Given the description of an element on the screen output the (x, y) to click on. 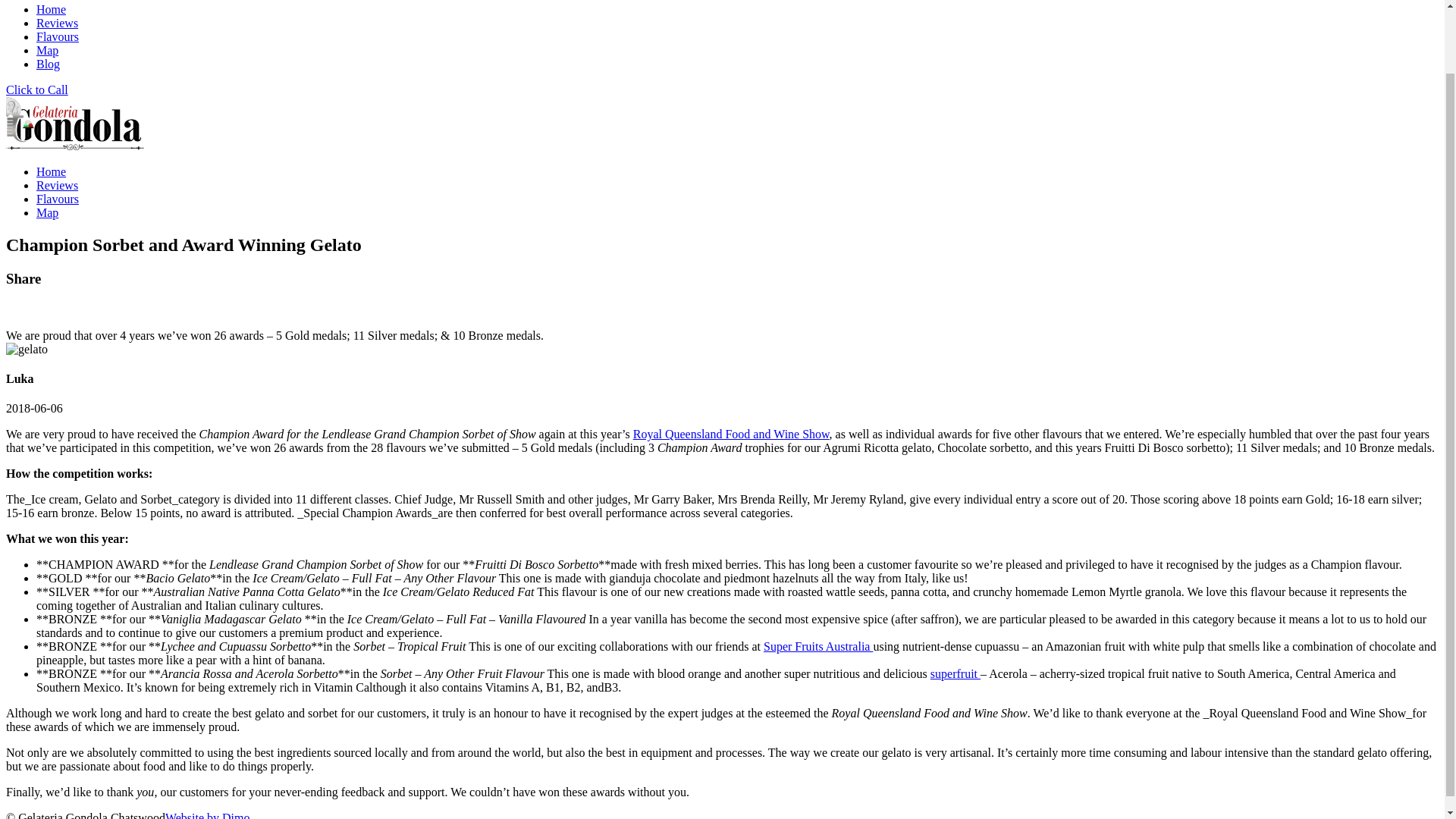
Super Fruits Australia  (817, 645)
Flavours (57, 36)
Home (50, 9)
Reviews (57, 22)
superfruit  (954, 673)
Map (47, 212)
Home (50, 171)
Flavours (57, 198)
Map (47, 50)
Click to Call (36, 89)
